Given the description of an element on the screen output the (x, y) to click on. 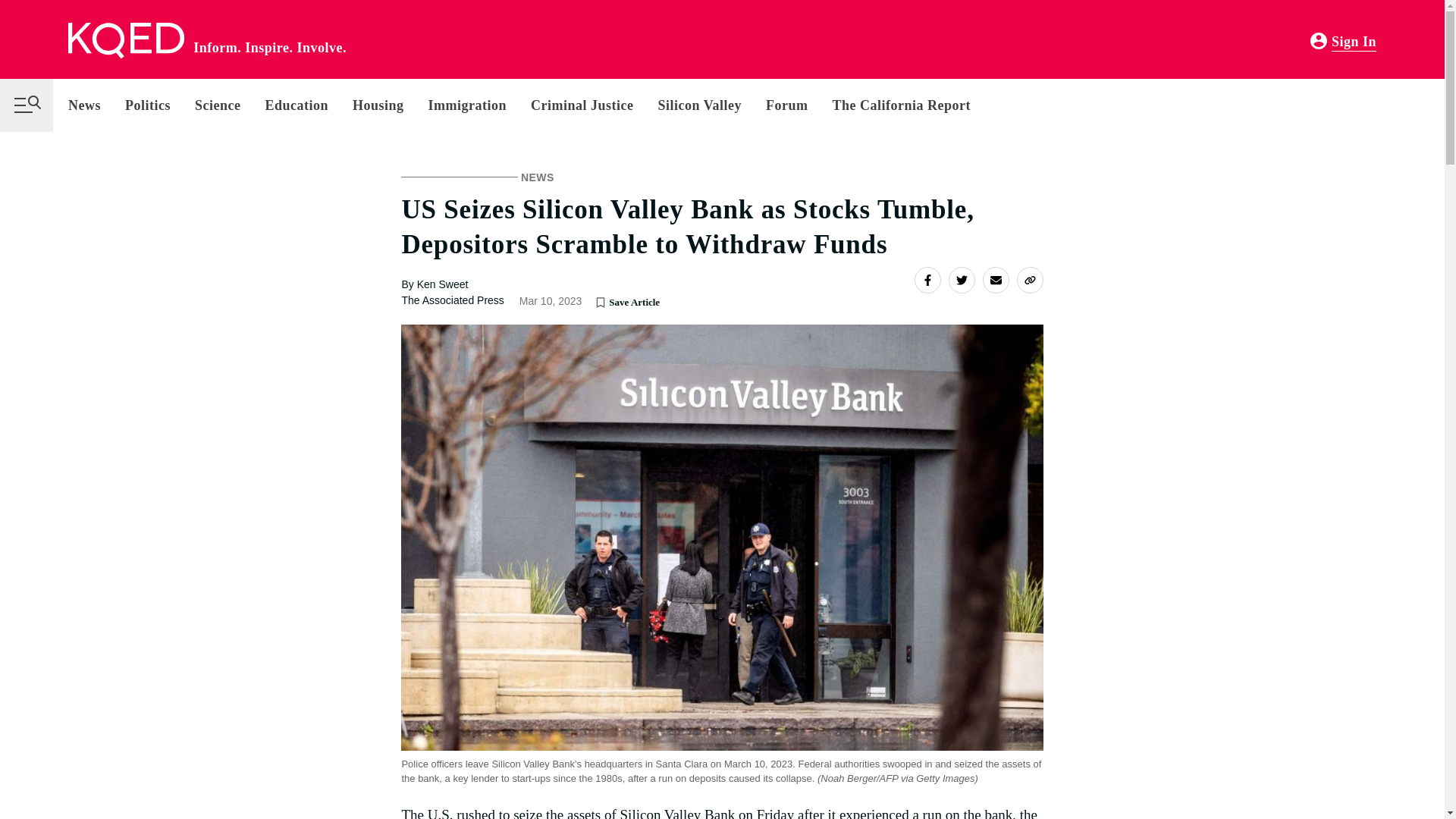
Save Article (600, 302)
KQED (126, 40)
KQED (126, 40)
News (90, 104)
